Given the description of an element on the screen output the (x, y) to click on. 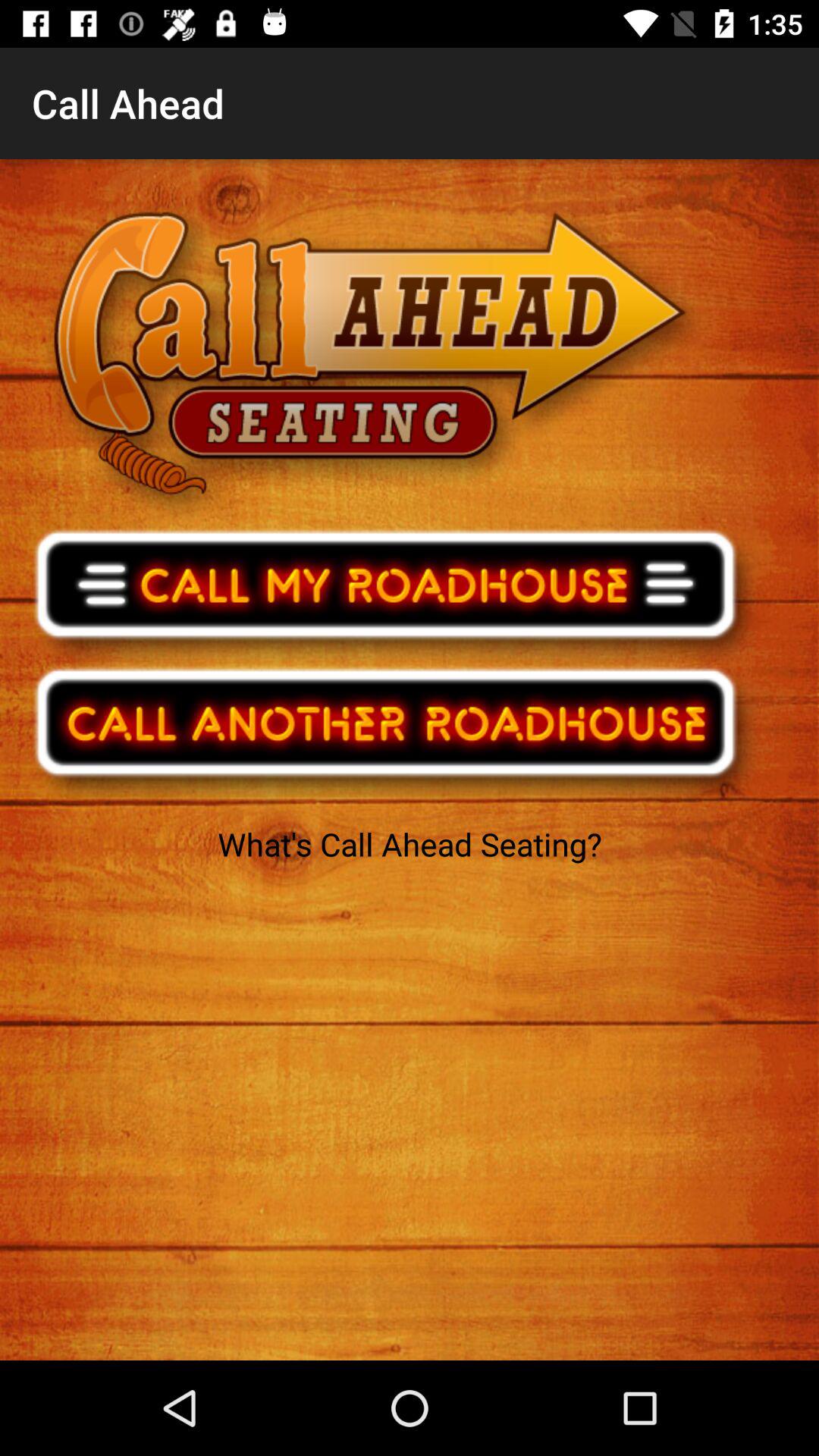
call local roadhouse (395, 593)
